Given the description of an element on the screen output the (x, y) to click on. 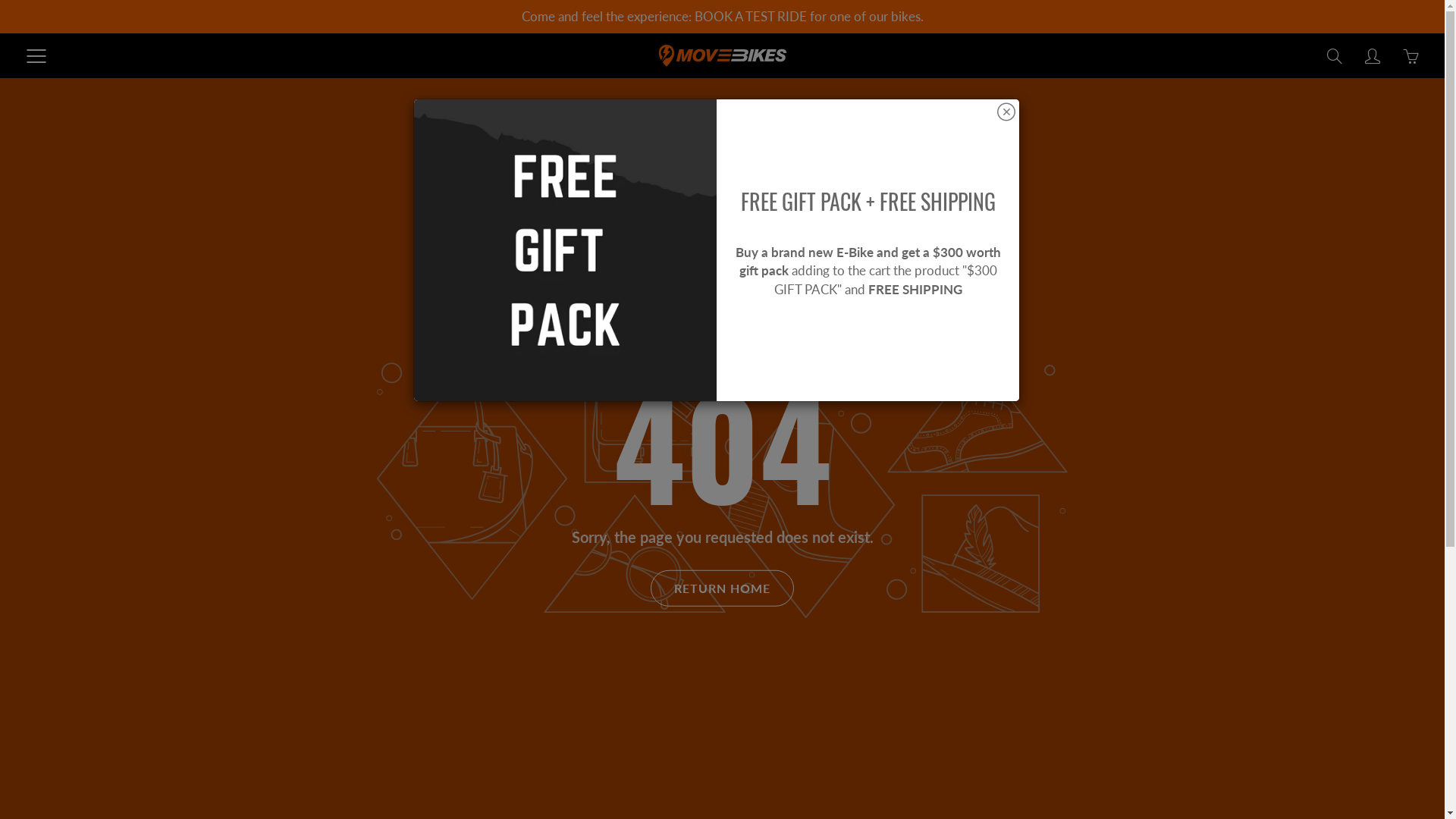
Press space bar to toggle menu Element type: text (35, 55)
Search Element type: text (1334, 55)
My account Element type: text (1372, 55)
You have 0 items in your cart Element type: text (1410, 55)
RETURN HOME Element type: text (721, 588)
